Given the description of an element on the screen output the (x, y) to click on. 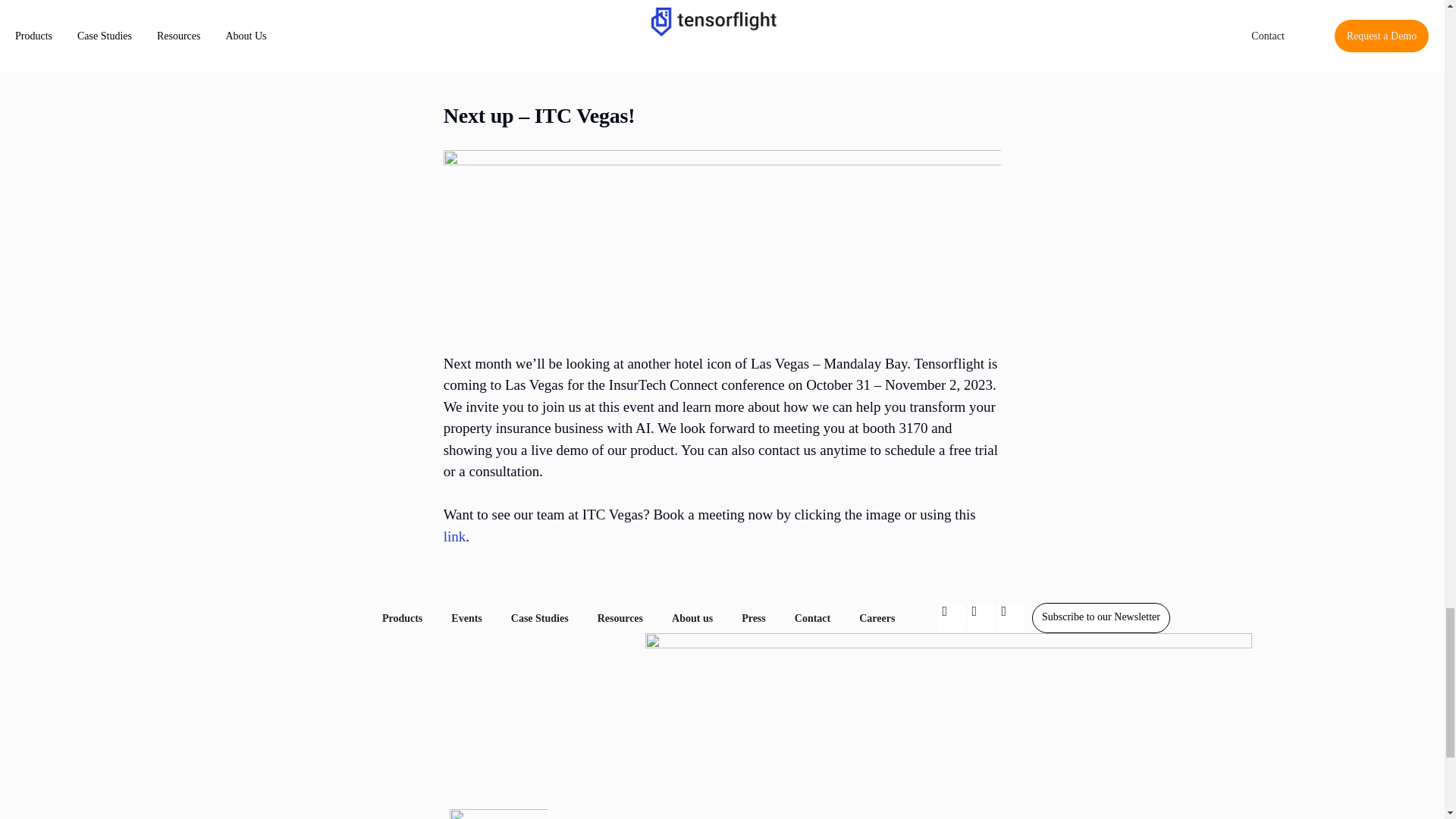
link (454, 536)
Events (466, 618)
Press (753, 618)
Case Studies (540, 618)
About us (692, 618)
Products (401, 618)
Resources (619, 618)
Careers (877, 618)
Contact (811, 618)
